Given the description of an element on the screen output the (x, y) to click on. 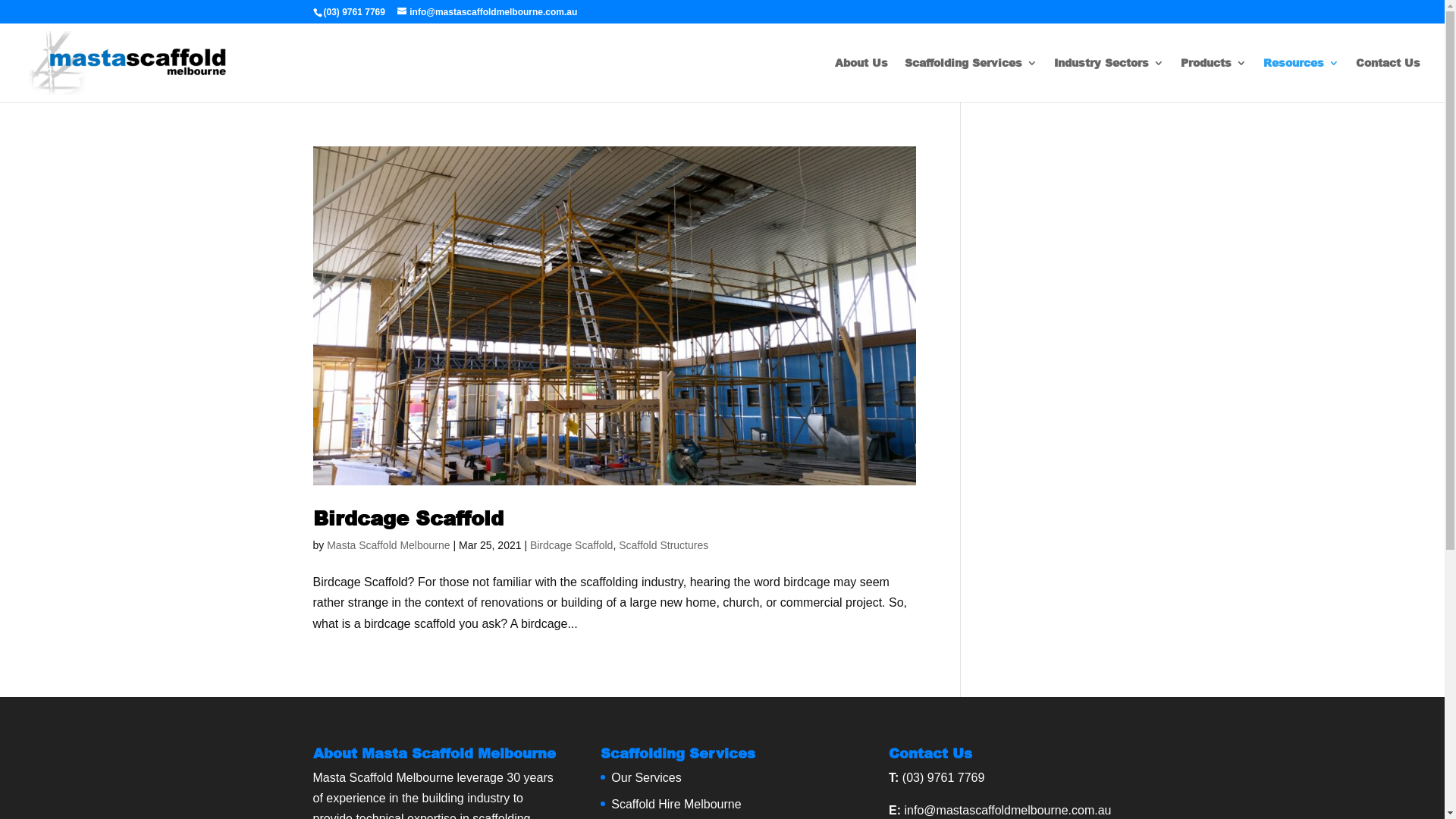
Birdcage Scaffold Element type: text (407, 517)
Our Services Element type: text (645, 777)
Scaffolding Services Element type: text (970, 79)
(03) 9761 7769 Element type: text (943, 777)
info@mastascaffoldmelbourne.com.au Element type: text (1007, 809)
Birdcage Scaffold Element type: text (571, 545)
Industry Sectors Element type: text (1109, 79)
Masta Scaffold Melbourne Element type: text (387, 545)
About Us Element type: text (861, 79)
Resources Element type: text (1301, 79)
Contact Us Element type: text (1387, 79)
info@mastascaffoldmelbourne.com.au Element type: text (487, 11)
Scaffold Hire Melbourne Element type: text (675, 803)
Products Element type: text (1213, 79)
Scaffold Structures Element type: text (663, 545)
